Given the description of an element on the screen output the (x, y) to click on. 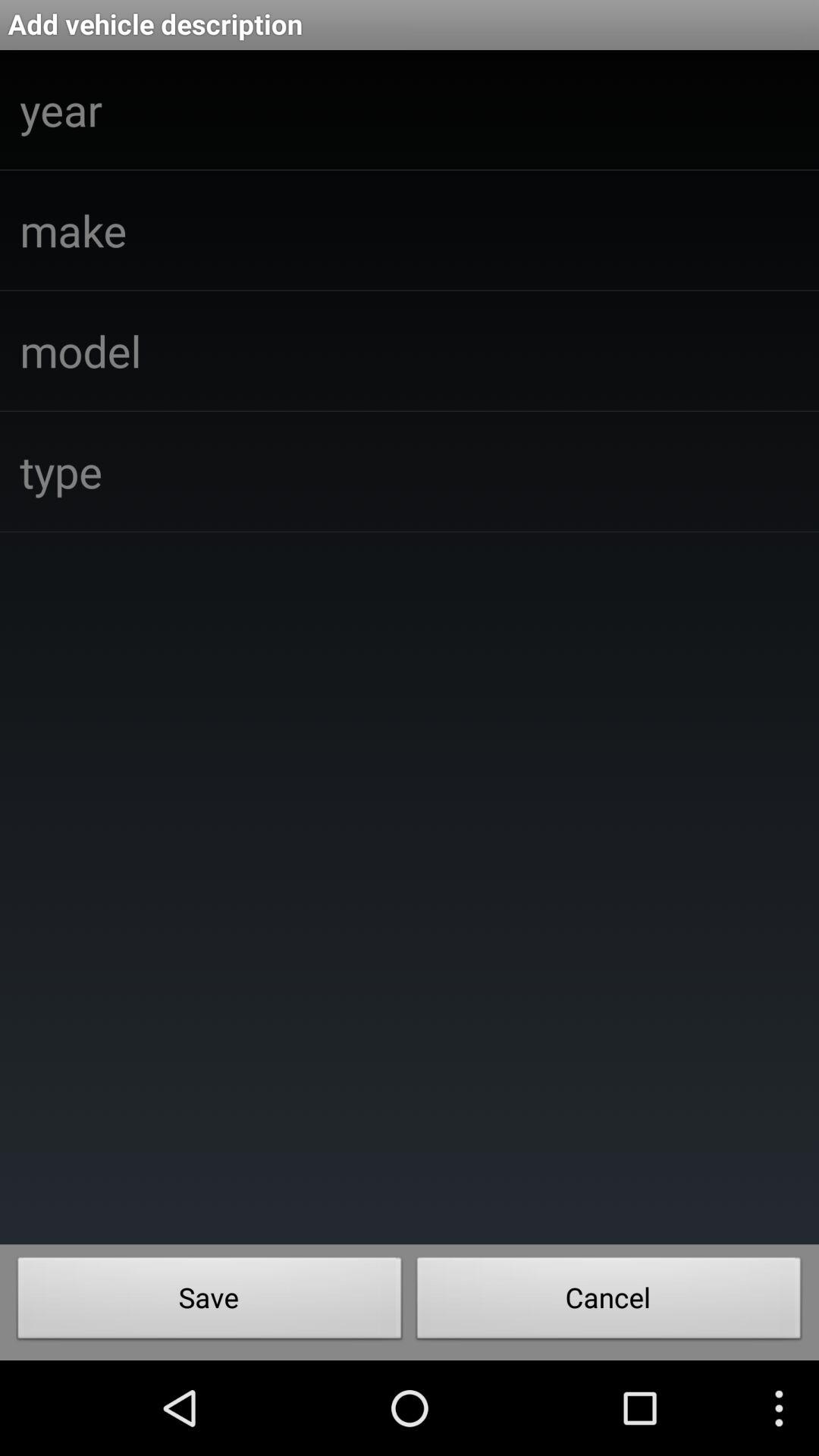
launch the button to the left of the cancel (209, 1302)
